Given the description of an element on the screen output the (x, y) to click on. 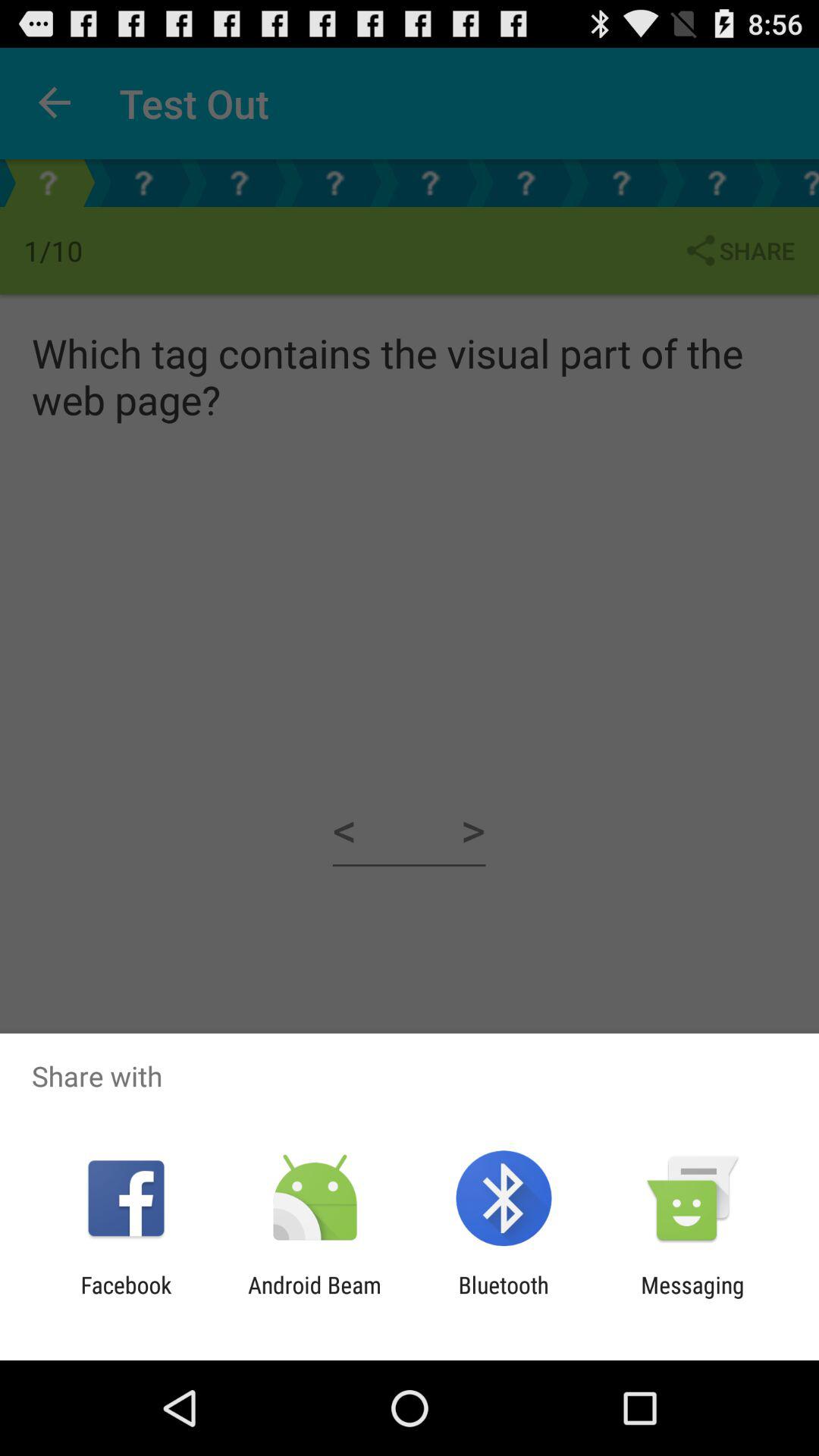
select the icon to the right of the android beam item (503, 1298)
